Given the description of an element on the screen output the (x, y) to click on. 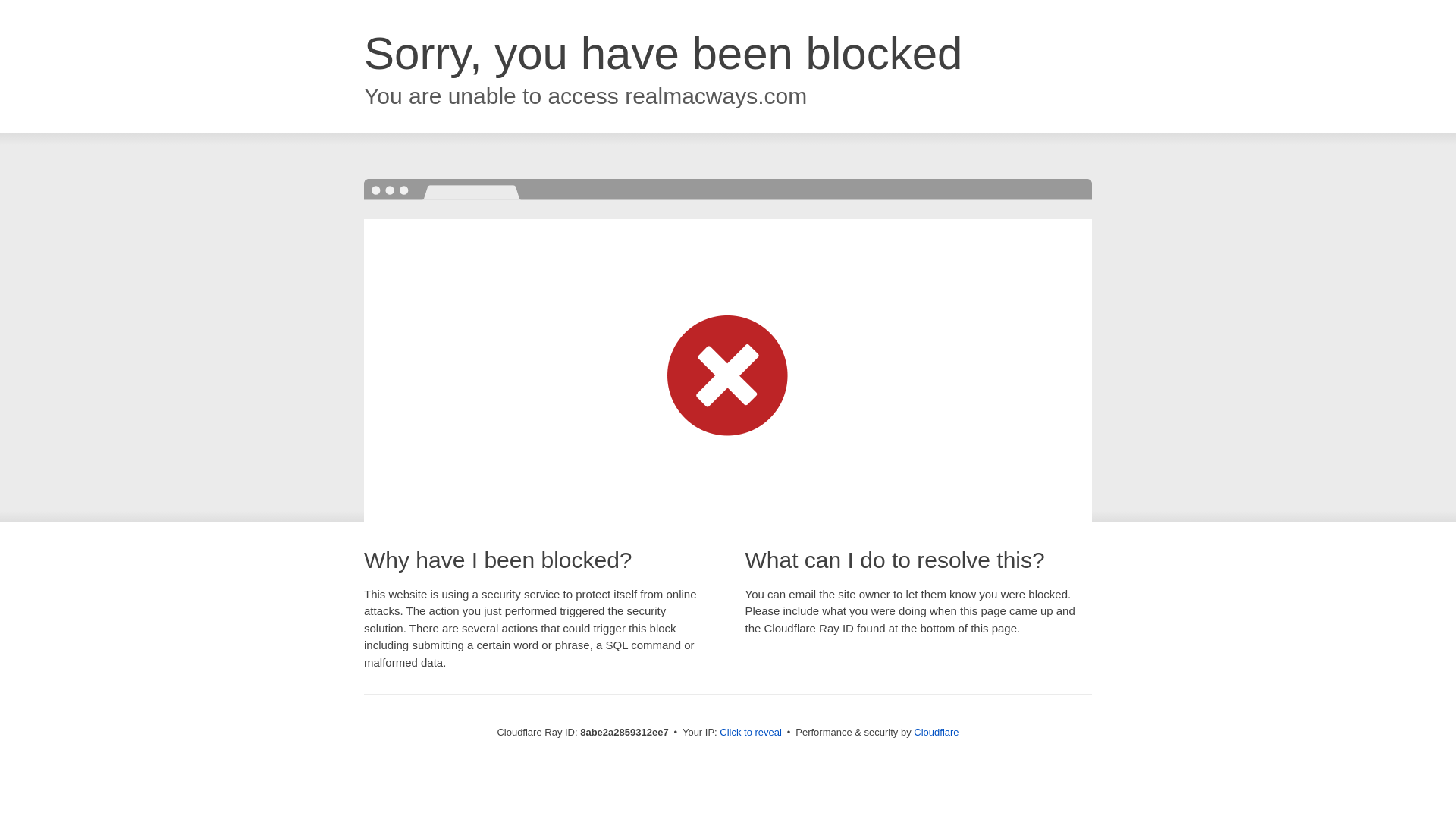
Cloudflare (936, 731)
Click to reveal (750, 732)
